Given the description of an element on the screen output the (x, y) to click on. 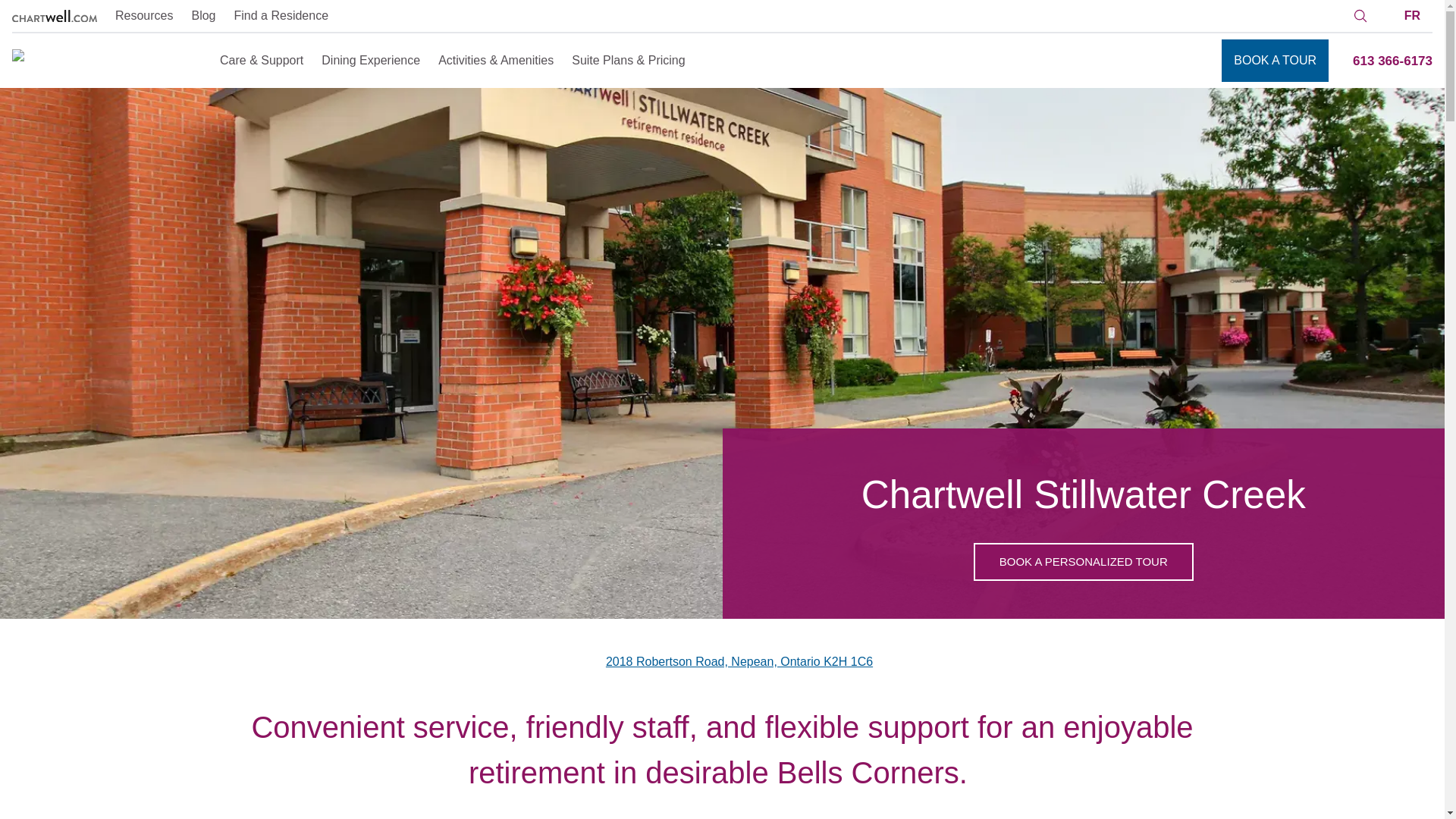
BOOK A TOUR (1274, 60)
Resources (144, 15)
Dining Experience (370, 60)
Blog (202, 15)
Find a Residence (281, 15)
BOOK A PERSONALIZED TOUR (1083, 561)
2018 Robertson Road, Nepean, Ontario K2H 1C6 (738, 661)
FR (1411, 17)
613 366-6173 (1392, 61)
Chartwell Stillwater Creek Retirement Residence (1083, 561)
Home (106, 60)
